Given the description of an element on the screen output the (x, y) to click on. 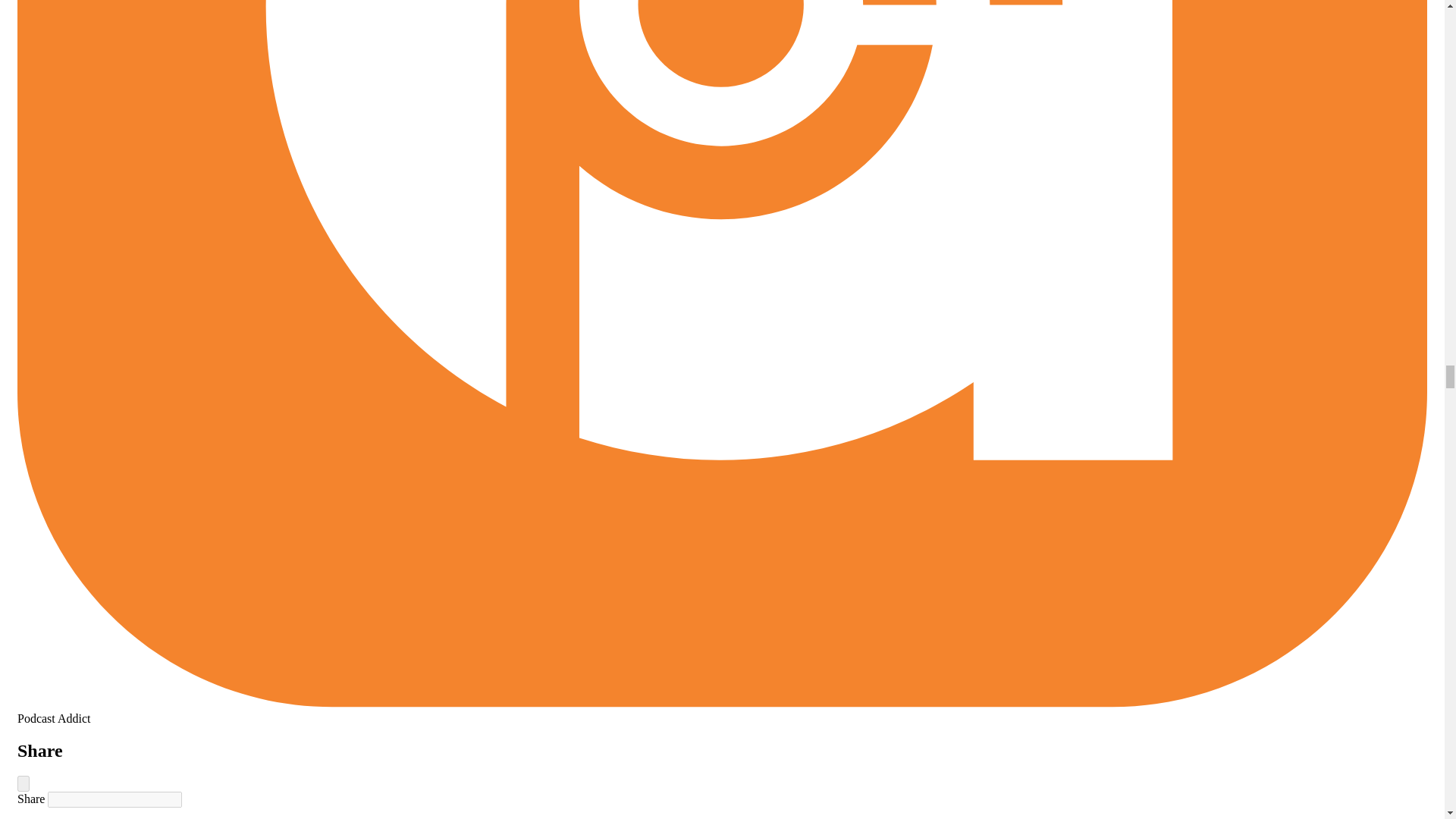
Podcast Addict (721, 711)
